Given the description of an element on the screen output the (x, y) to click on. 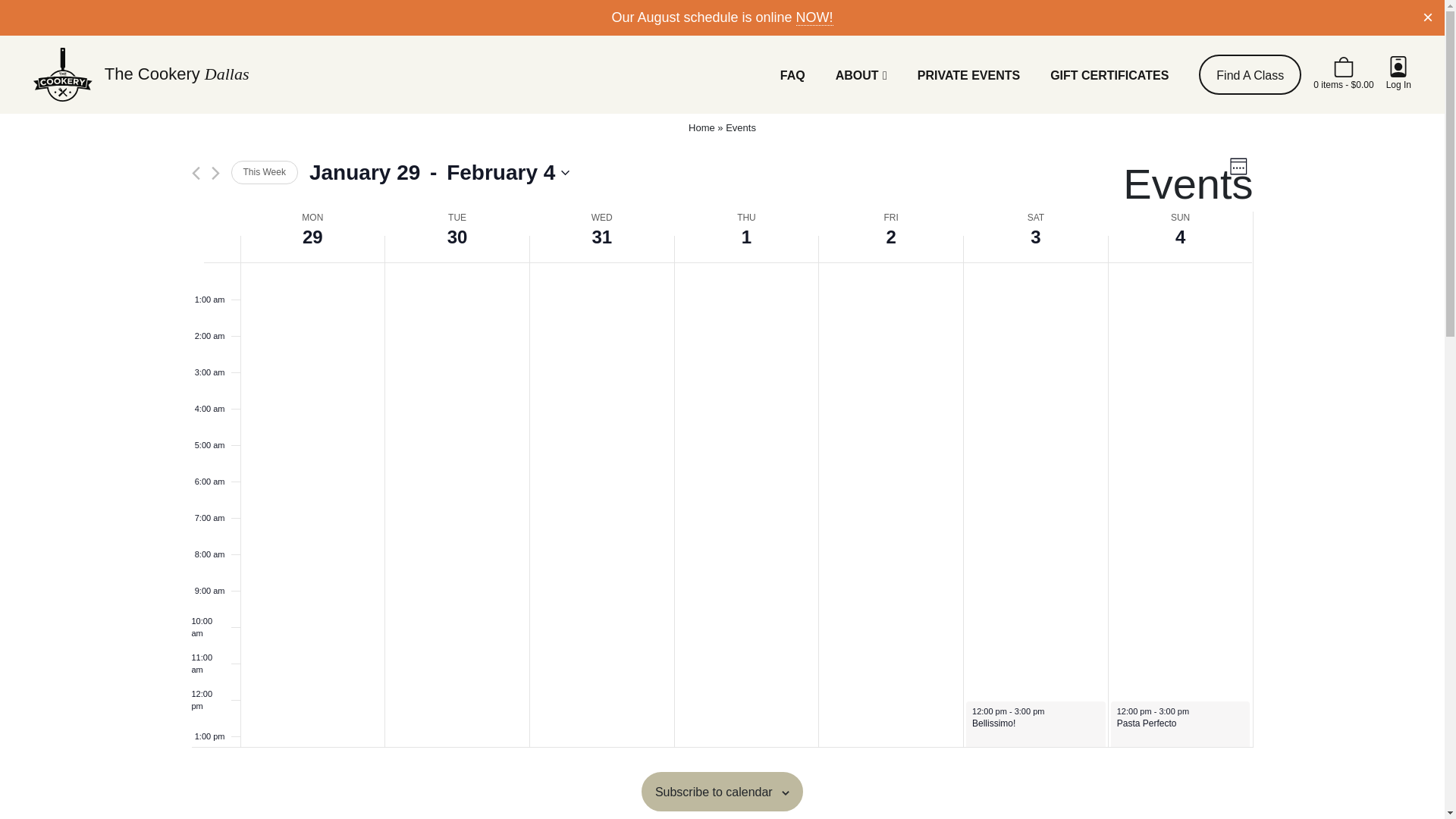
Home (701, 127)
Click to select the current week (263, 172)
View your shopping cart (1343, 74)
ABOUT (860, 74)
Find A Class (1249, 74)
Week (1238, 165)
The Cookery Dallas (140, 74)
Click to toggle datepicker (438, 173)
NOW! (814, 17)
GIFT CERTIFICATES (1109, 74)
